Given the description of an element on the screen output the (x, y) to click on. 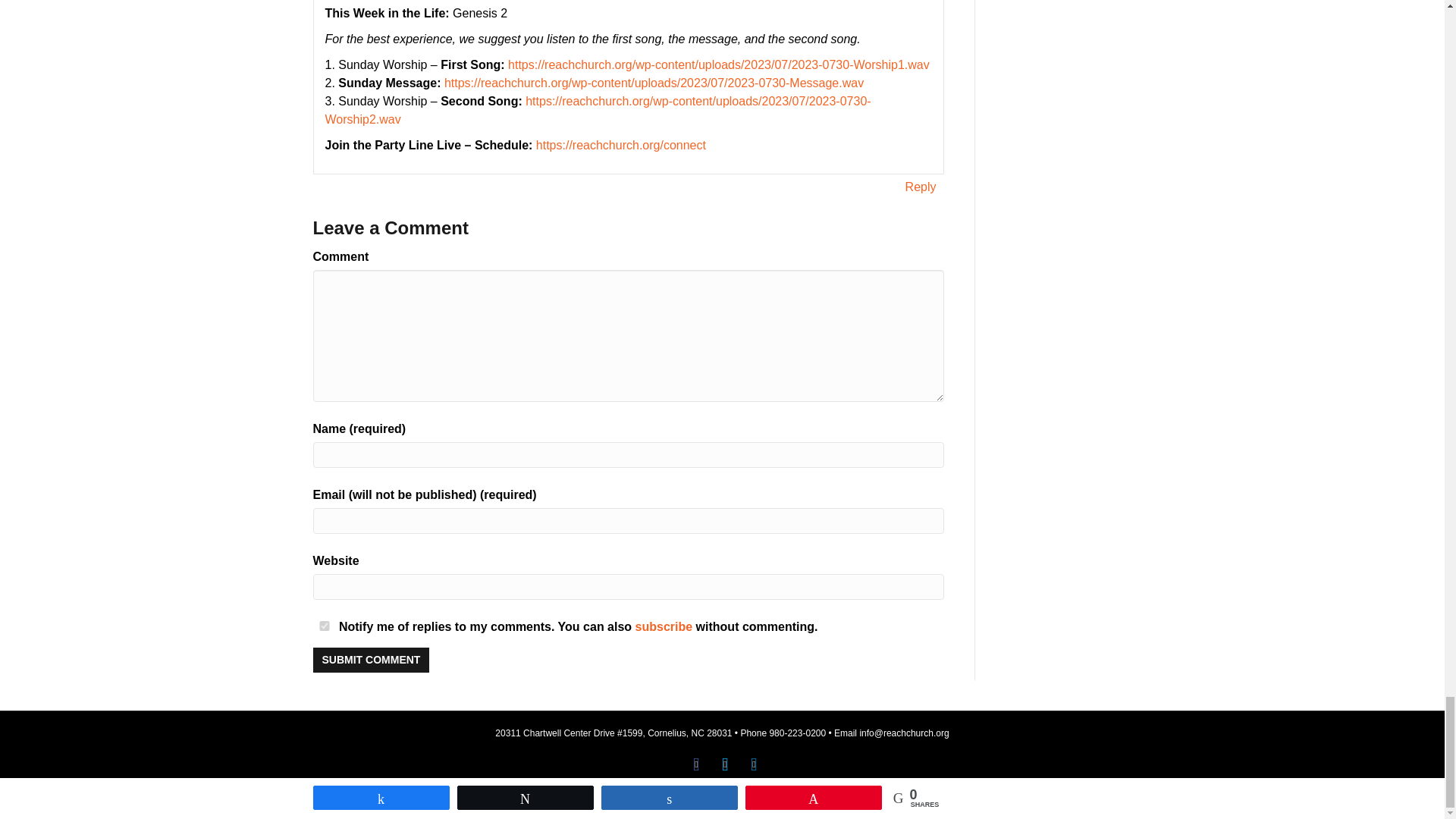
Submit Comment (371, 659)
Submit Comment (371, 659)
Reply (920, 186)
subscribe (663, 626)
yes (323, 625)
